Given the description of an element on the screen output the (x, y) to click on. 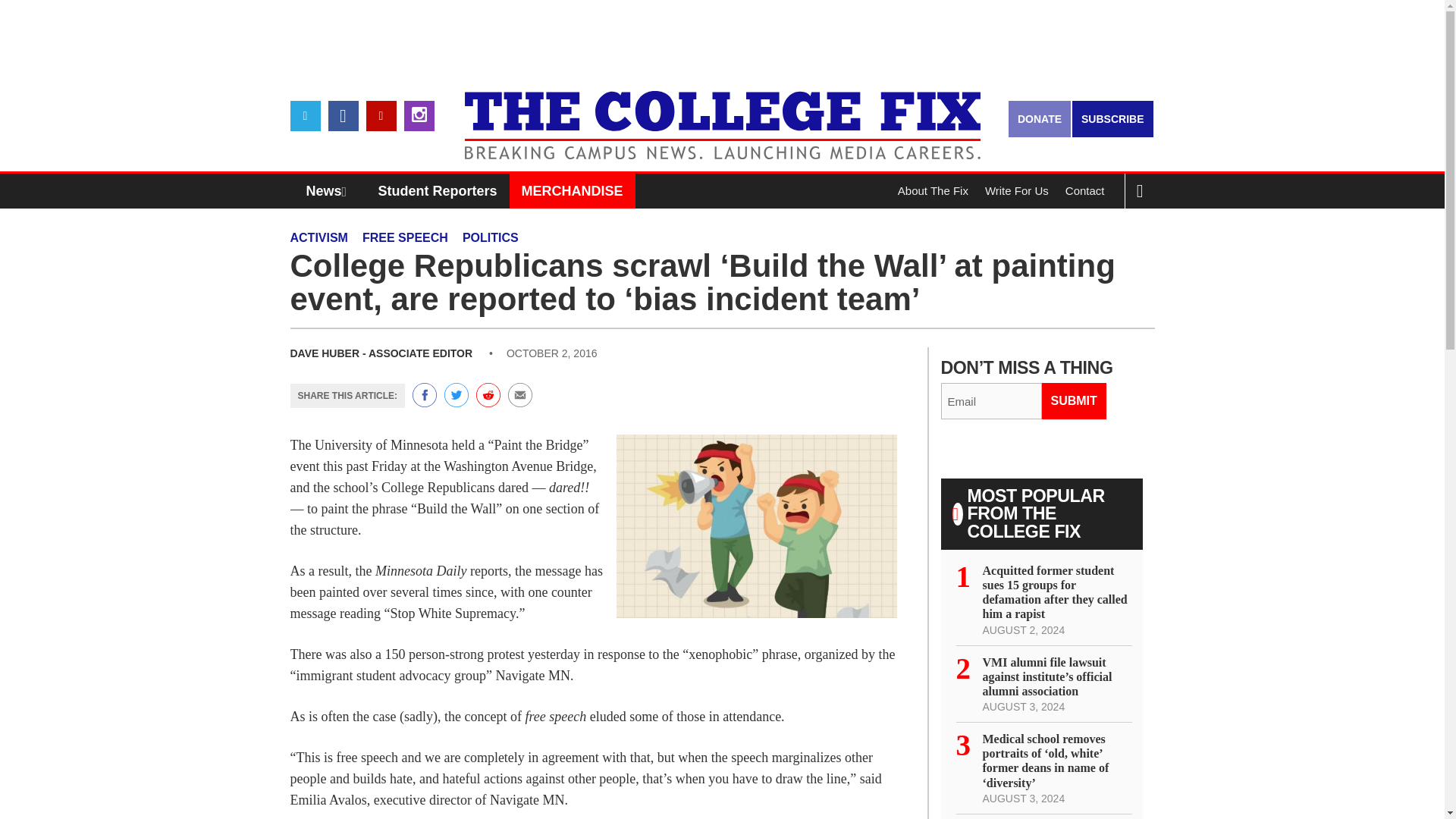
DONATE (1039, 118)
About The Fix (932, 190)
News (330, 190)
MERCHANDISE (571, 190)
Student Reporters (437, 190)
The College Fix (721, 114)
SUBSCRIBE (1112, 118)
Submit (1074, 401)
